Given the description of an element on the screen output the (x, y) to click on. 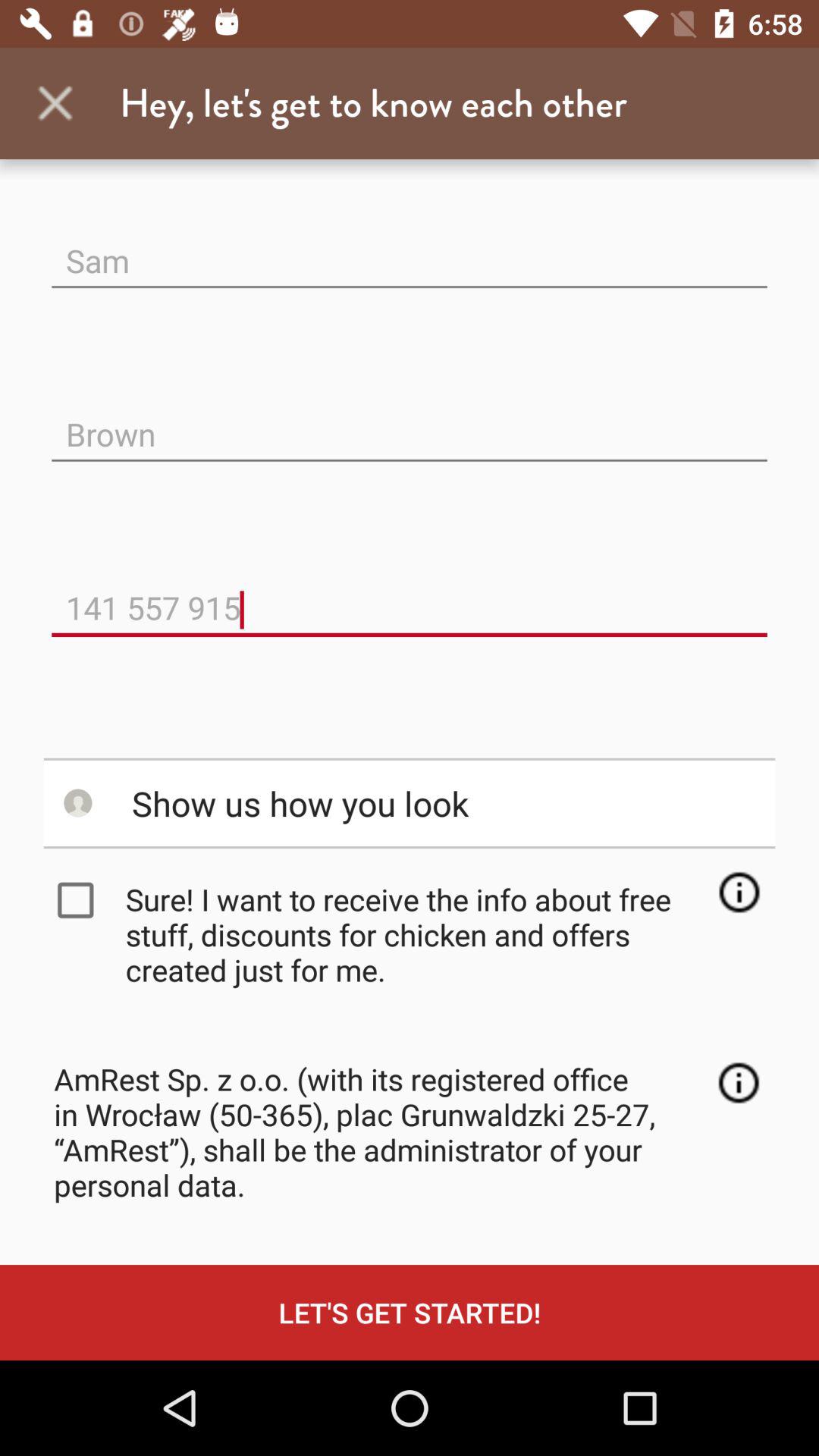
tap icon above the brown (409, 248)
